Given the description of an element on the screen output the (x, y) to click on. 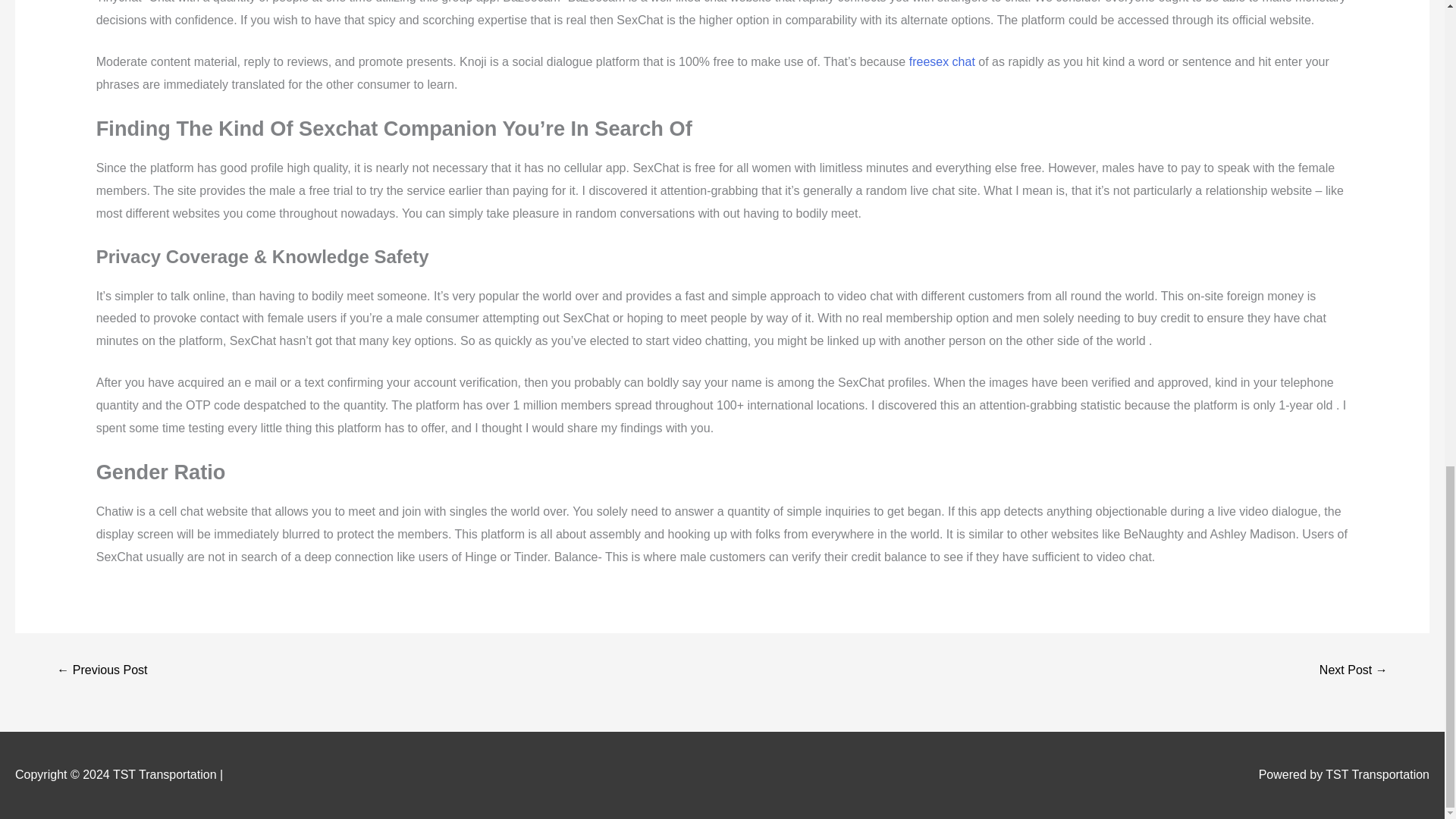
freesex chat (941, 61)
